Given the description of an element on the screen output the (x, y) to click on. 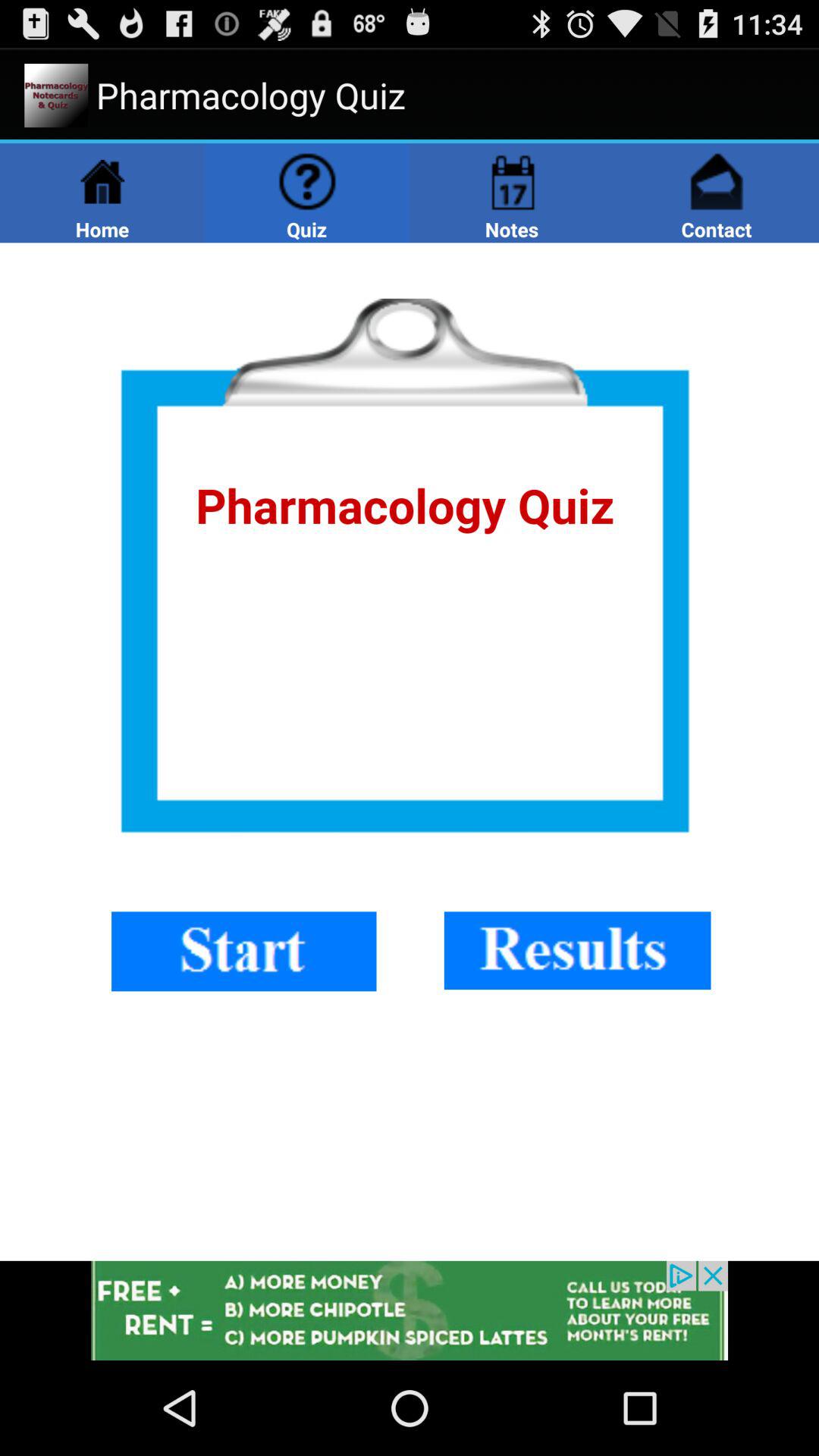
view the advertisement (409, 1310)
